Given the description of an element on the screen output the (x, y) to click on. 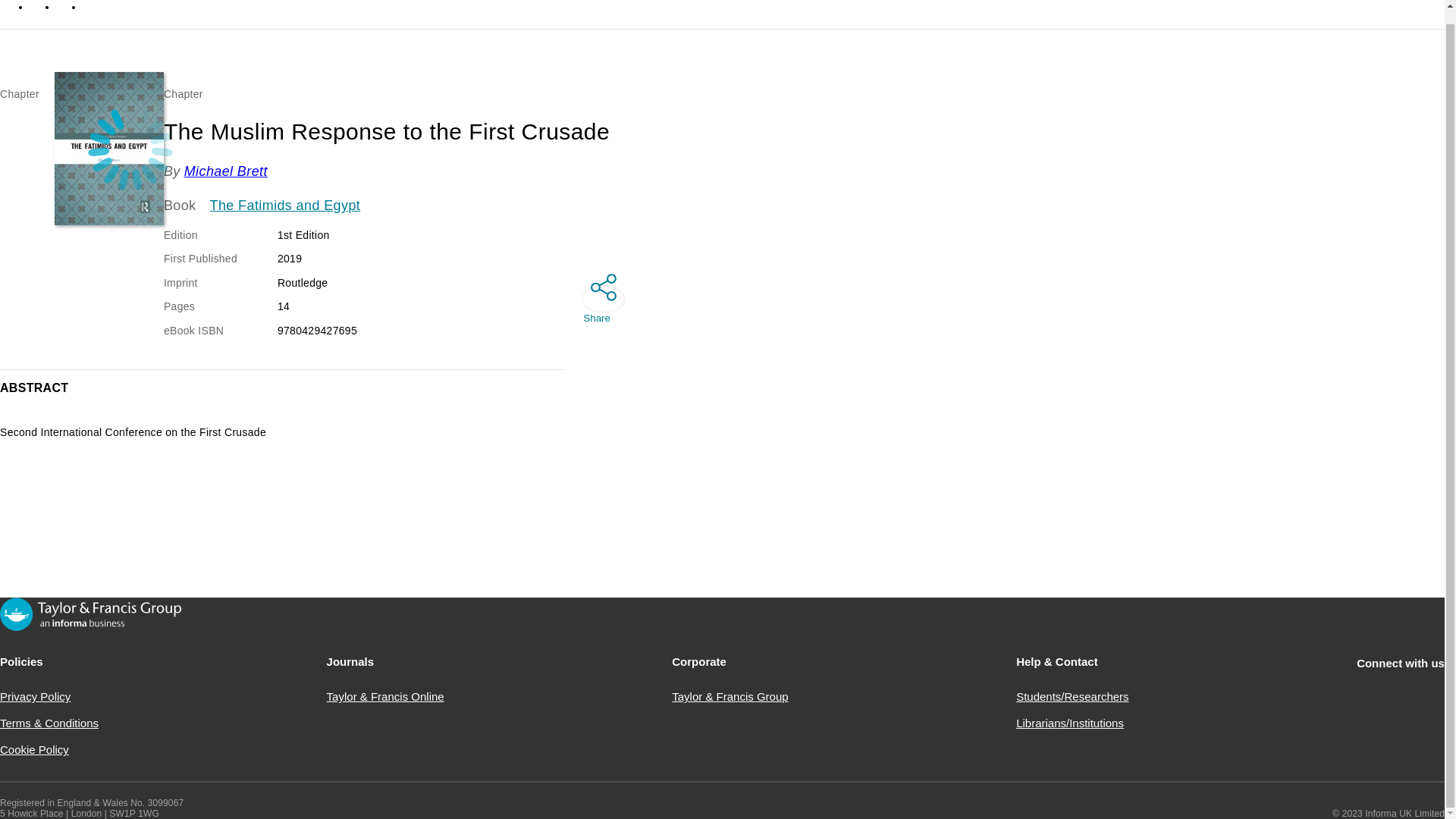
Cookie Policy (34, 749)
The Fatimids and Egypt (285, 206)
Michael Brett (225, 171)
Privacy Policy (34, 696)
